Given the description of an element on the screen output the (x, y) to click on. 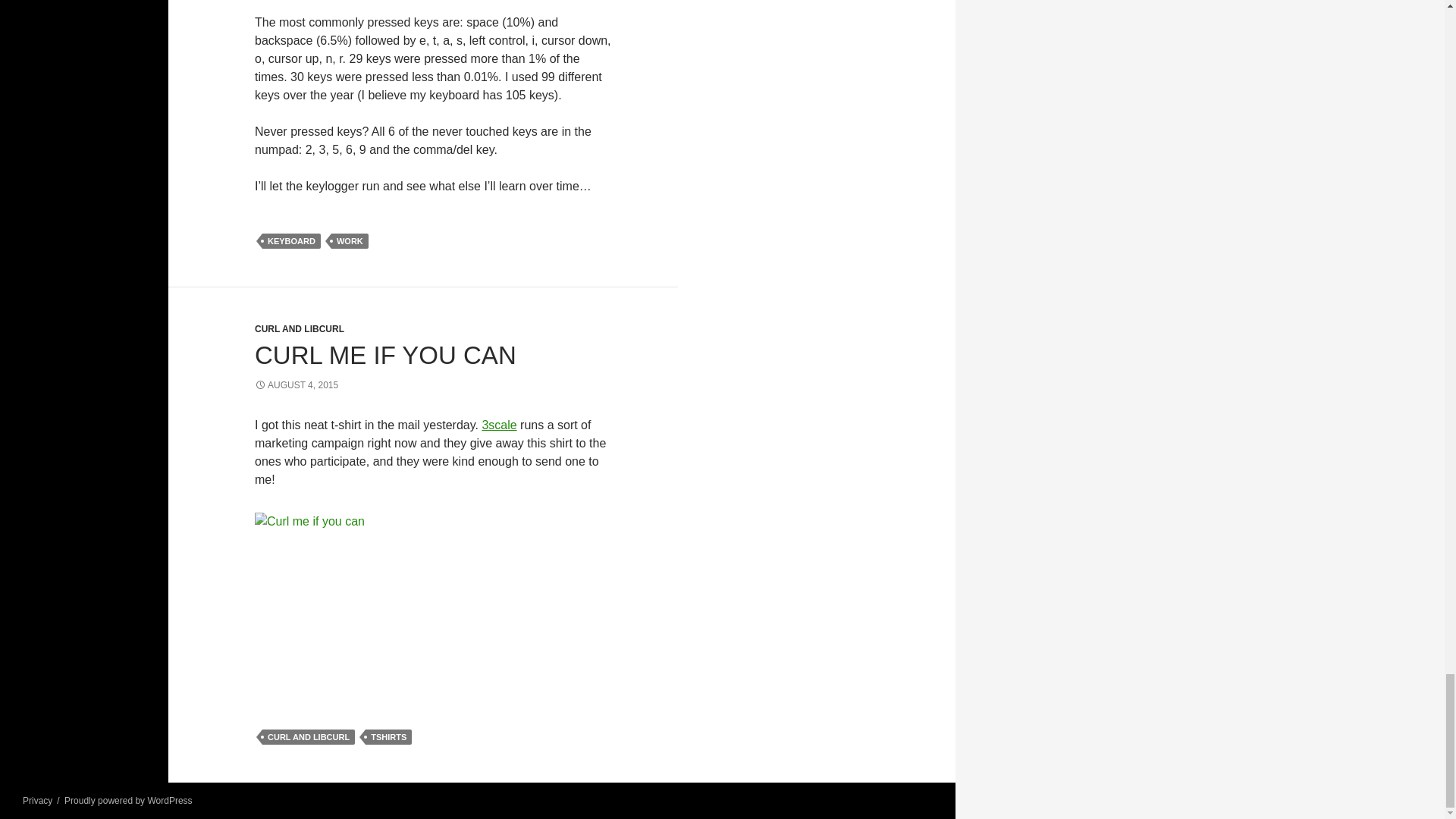
WORK (349, 240)
KEYBOARD (291, 240)
CURL AND LIBCURL (298, 328)
Curl me if you can (424, 608)
